Given the description of an element on the screen output the (x, y) to click on. 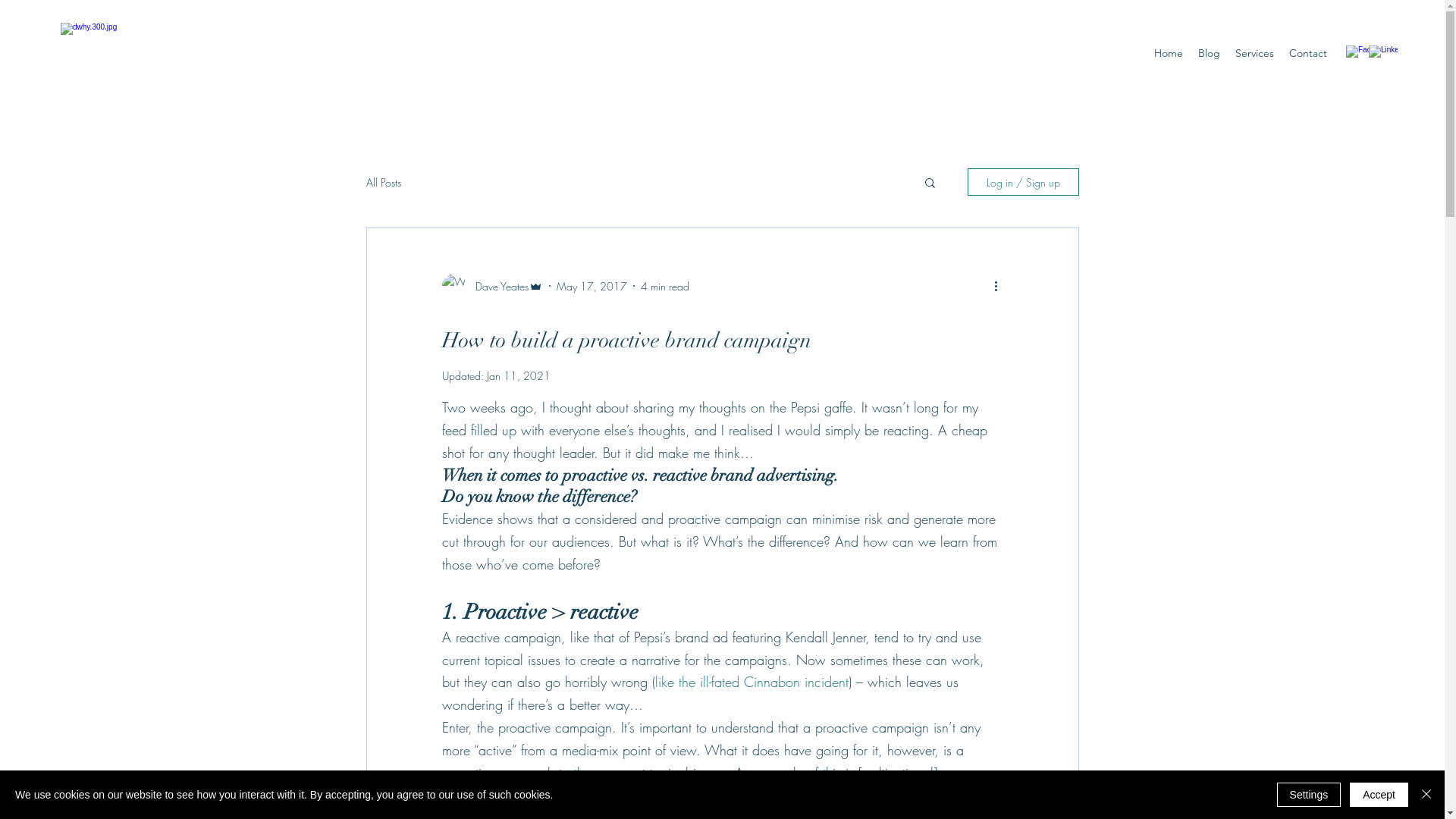
Home Element type: text (1168, 52)
Settings Element type: text (1309, 794)
Accept Element type: text (1378, 794)
Contact Element type: text (1307, 52)
All Posts Element type: text (382, 181)
Blog Element type: text (1208, 52)
Services Element type: text (1254, 52)
like the ill-fated Cinnabon incident Element type: text (751, 681)
Log in / Sign up Element type: text (1023, 181)
